Given the description of an element on the screen output the (x, y) to click on. 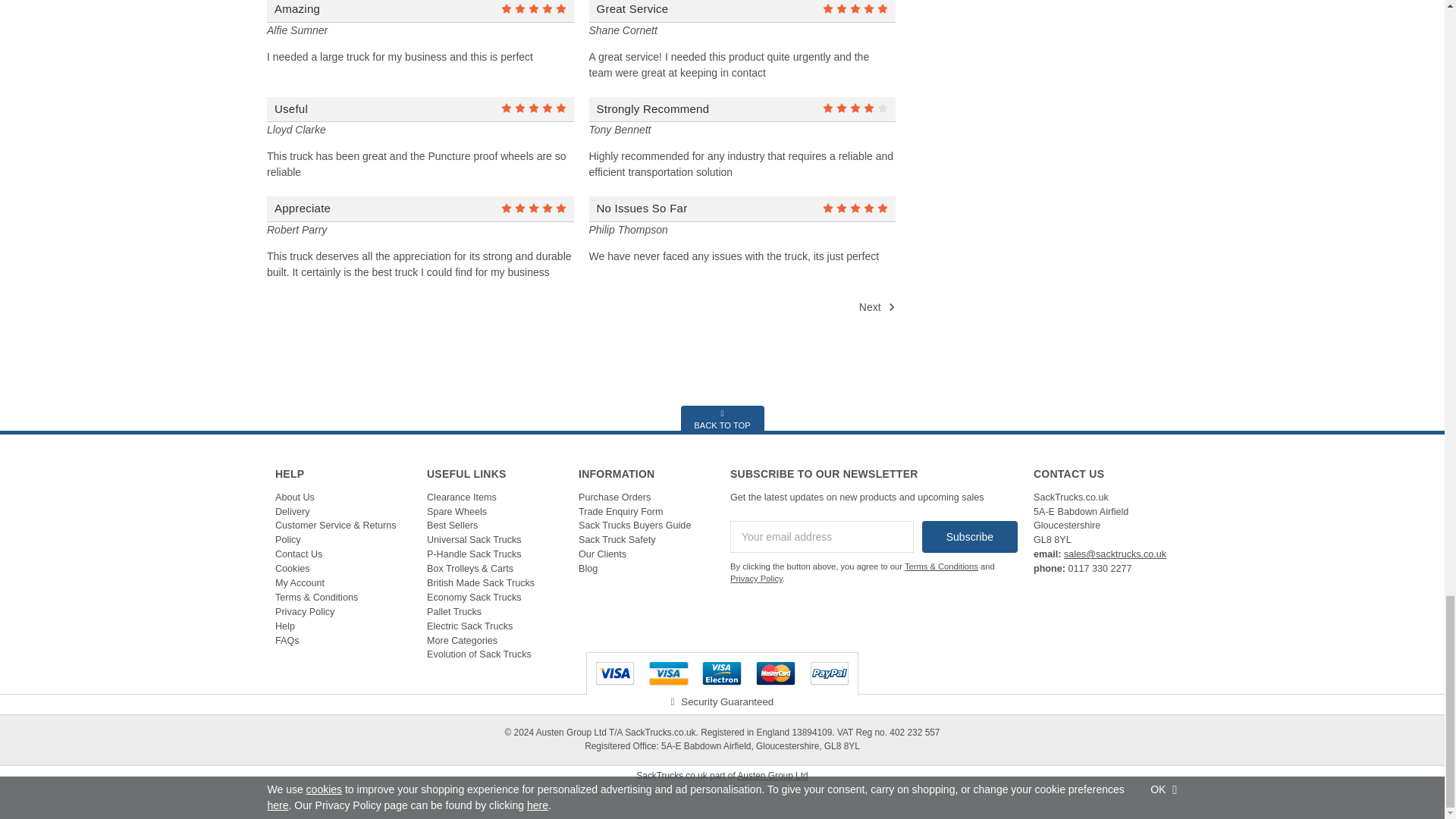
BACK TO TOP (722, 419)
Subscribe (969, 536)
